Given the description of an element on the screen output the (x, y) to click on. 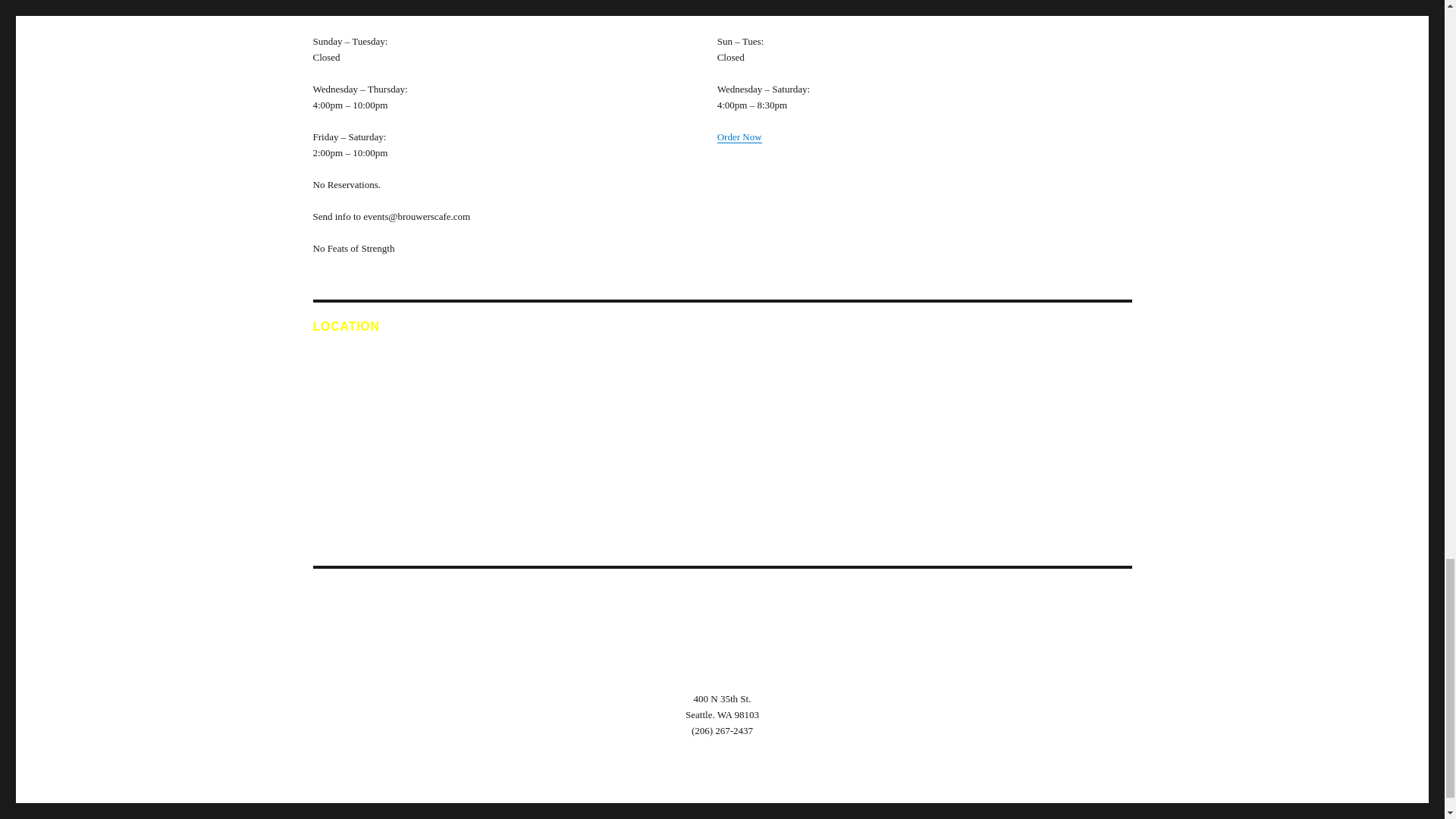
Order Now (739, 136)
